Given the description of an element on the screen output the (x, y) to click on. 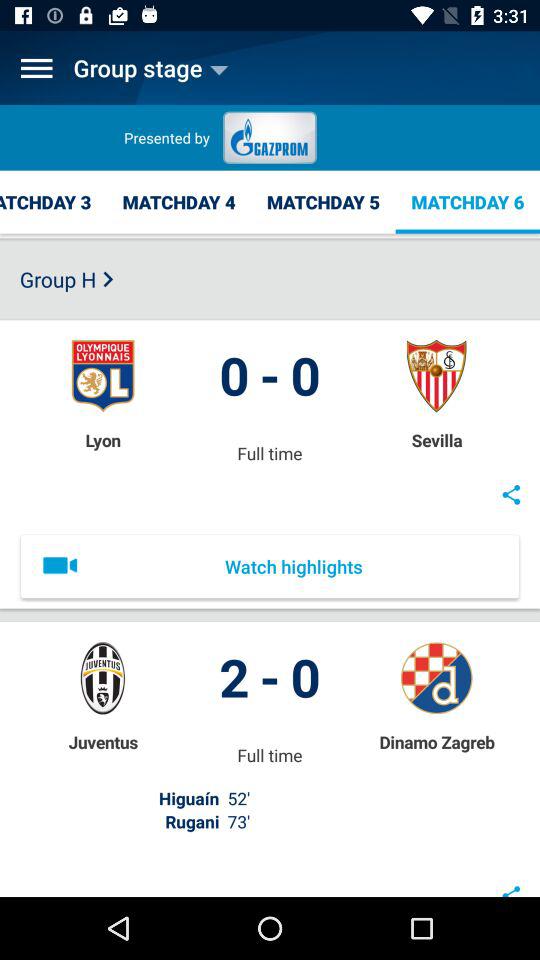
select icon to the left of the group stage item (36, 68)
